Given the description of an element on the screen output the (x, y) to click on. 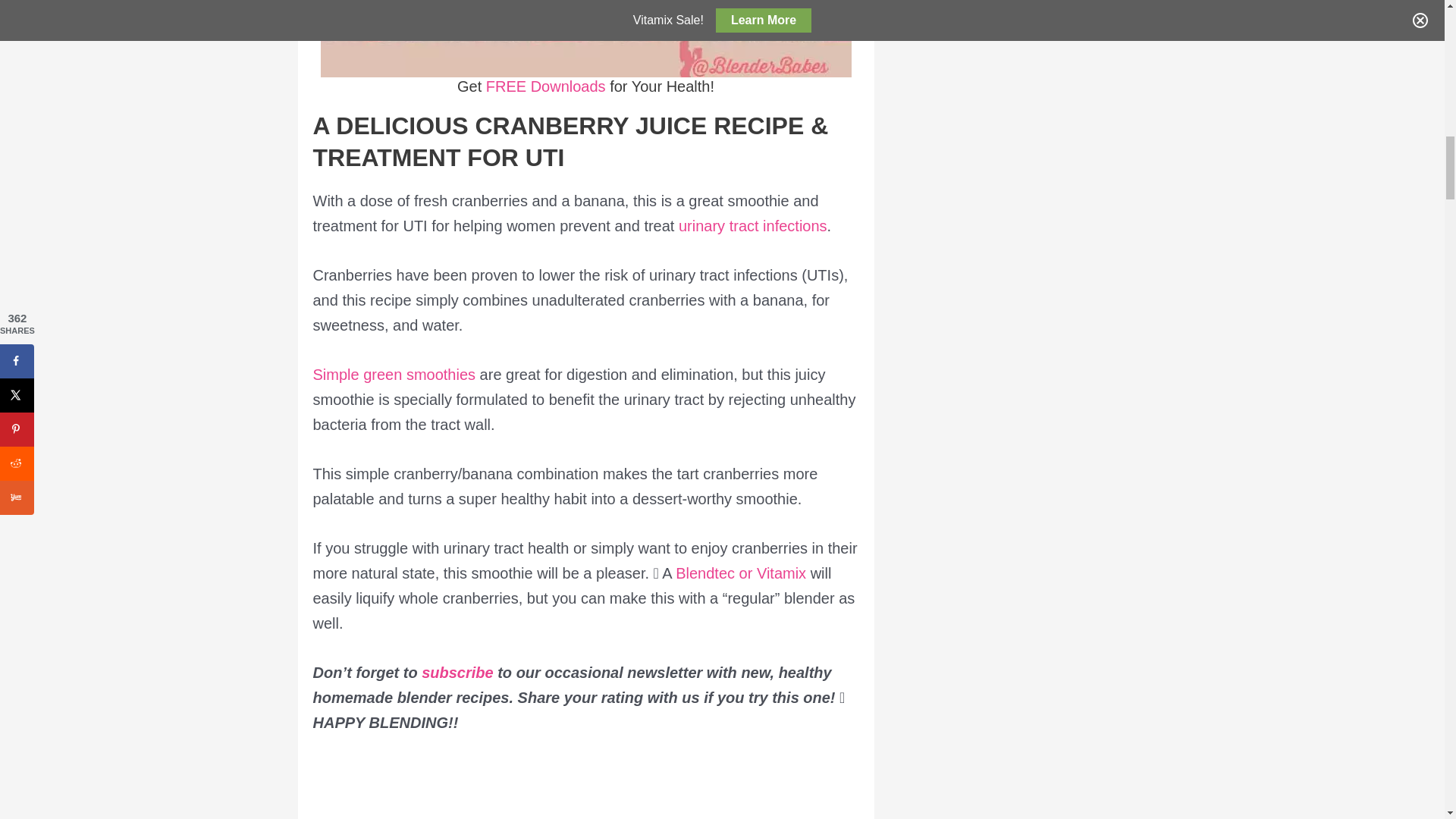
The Most Comprehensive Blendtec vs Vitamix Review (740, 573)
Understanding more about UTI's (752, 225)
YouTube player (585, 789)
